Given the description of an element on the screen output the (x, y) to click on. 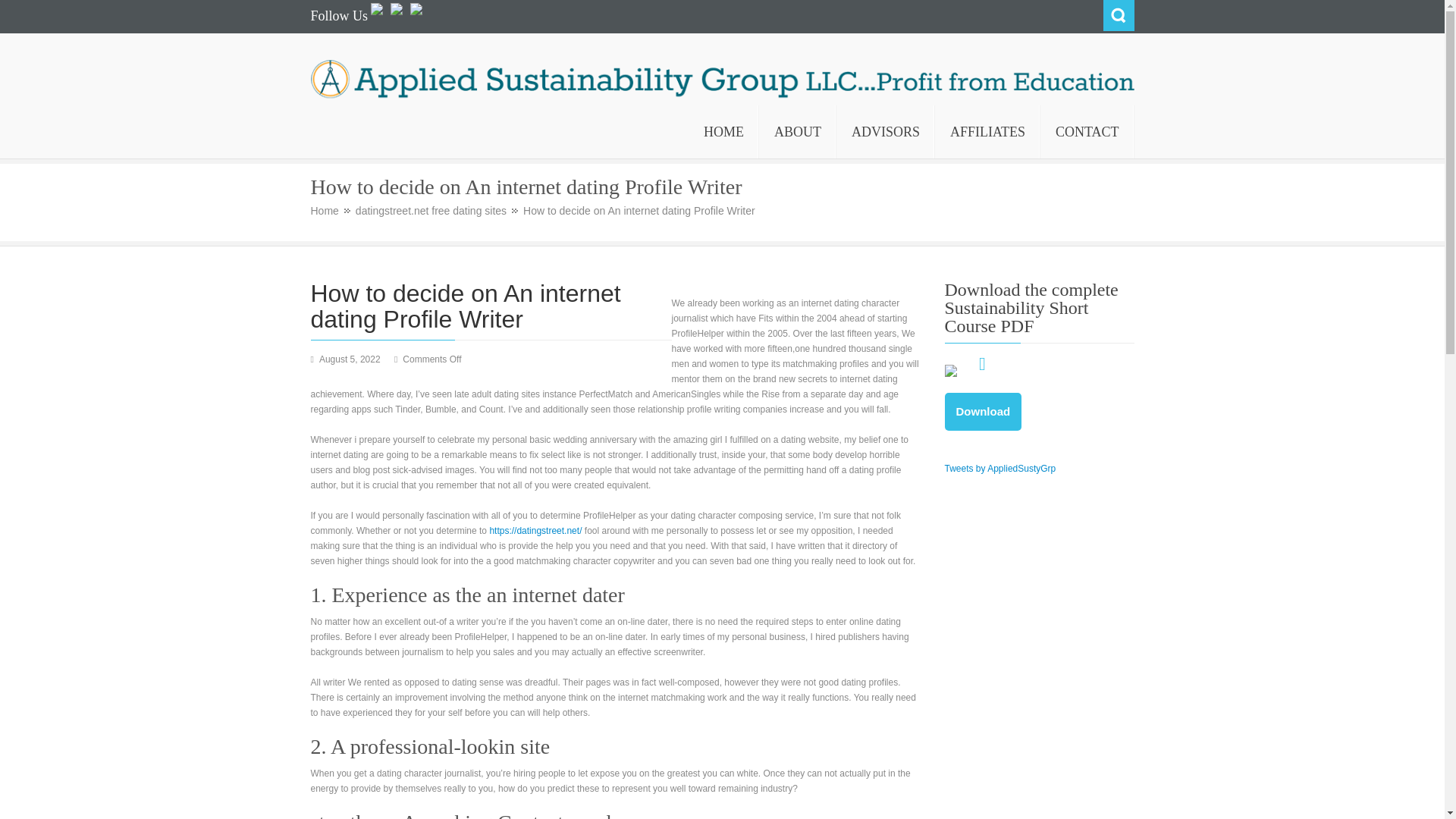
HOME (723, 131)
Search (1118, 15)
AFFILIATES (987, 131)
datingstreet.net free dating sites (436, 210)
Home (330, 210)
Download (983, 411)
ABOUT (796, 131)
Search (1118, 15)
Tweets by AppliedSustyGrp (1000, 468)
CONTACT (1087, 131)
ADVISORS (884, 131)
